Given the description of an element on the screen output the (x, y) to click on. 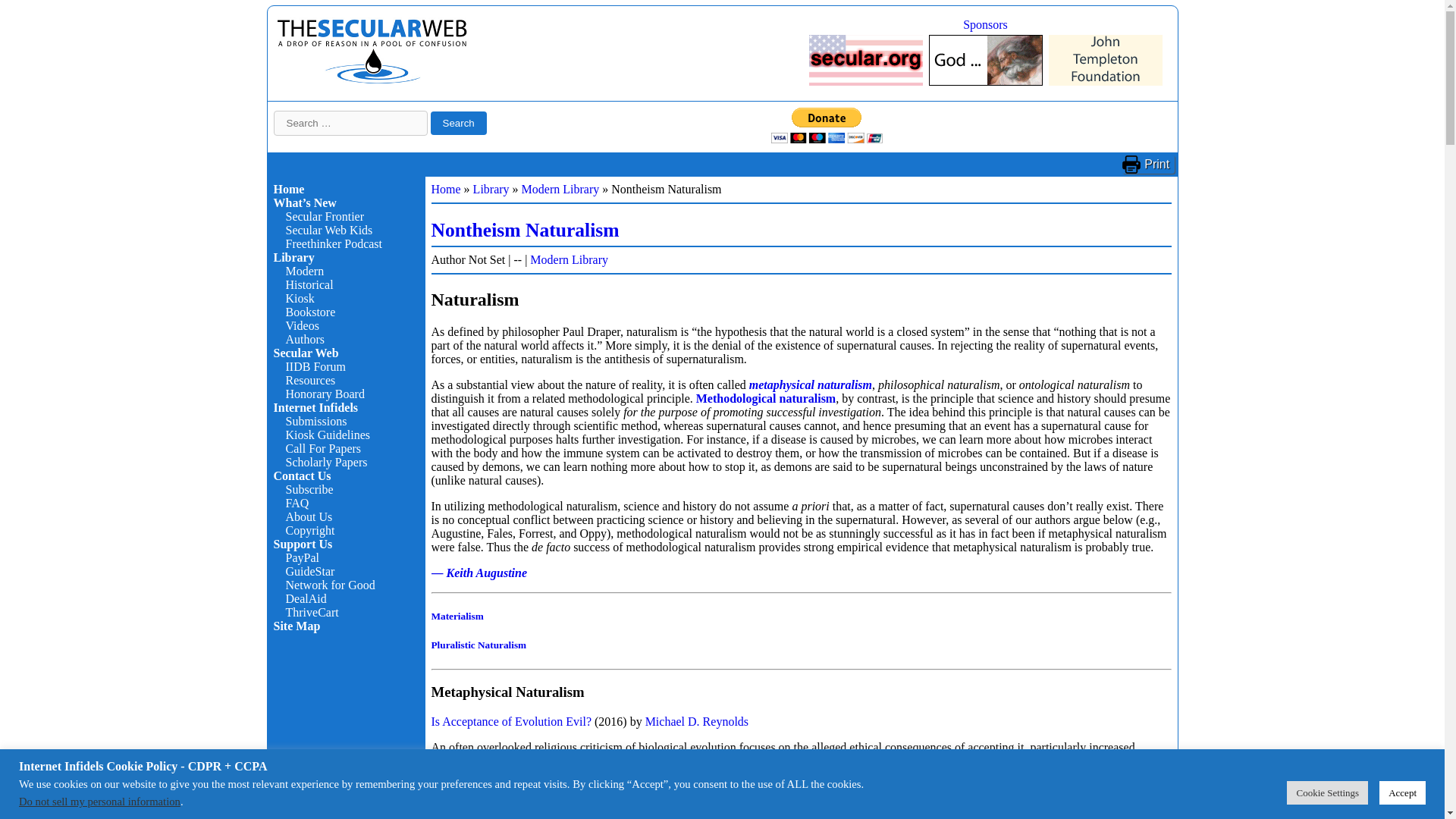
Sponsors (984, 24)
Contact Us (301, 475)
Submissions (315, 420)
Library (293, 256)
ThriveCart (311, 612)
FAQ (296, 502)
Kiosk (299, 297)
Authors (304, 338)
Secular Web (305, 352)
Print (1147, 164)
Subscribe (309, 489)
Secular Frontier (324, 215)
Honorary Board (324, 393)
IIDB Forum (315, 366)
Search (458, 123)
